Given the description of an element on the screen output the (x, y) to click on. 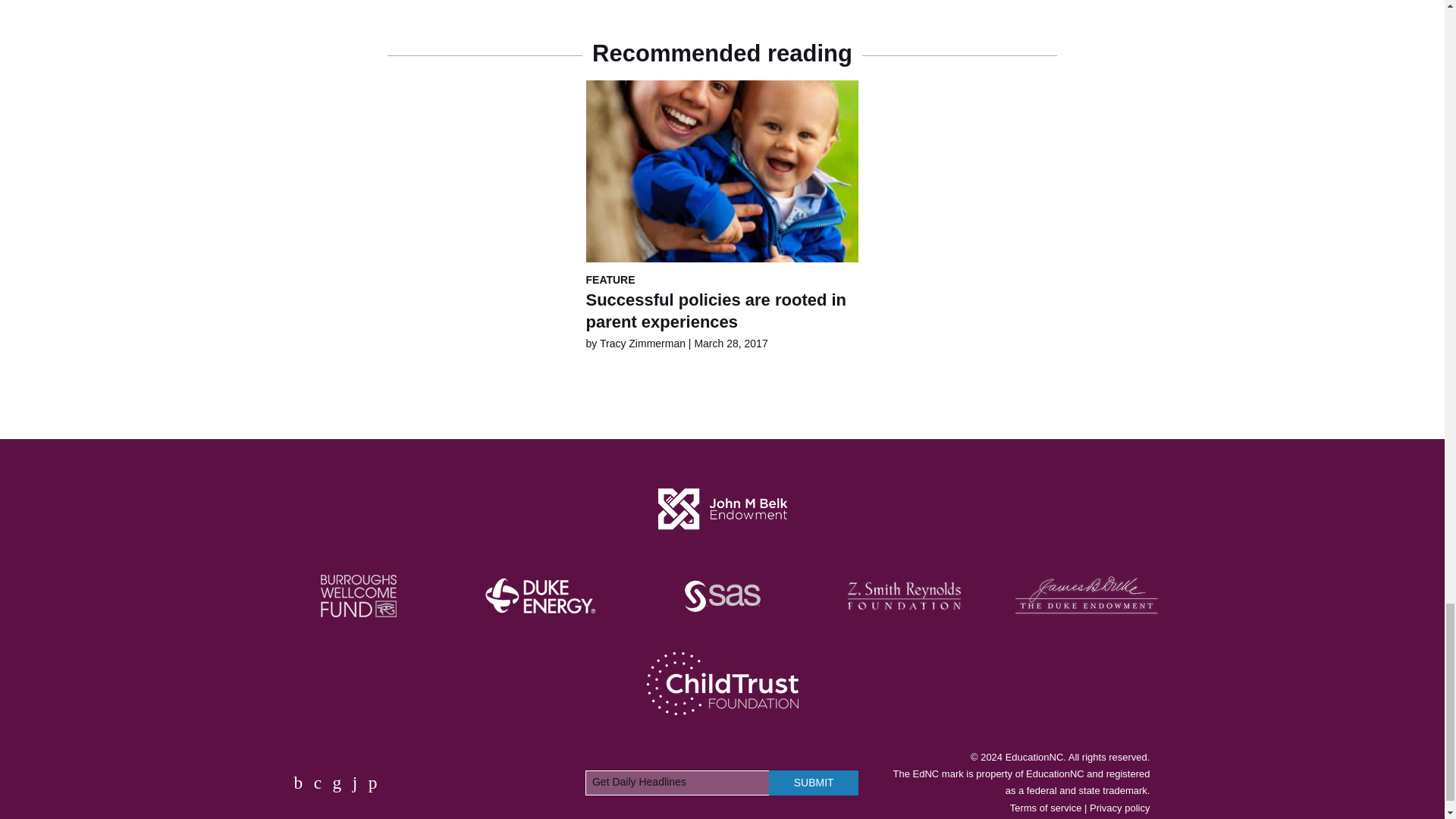
SUBMIT (813, 782)
